Given the description of an element on the screen output the (x, y) to click on. 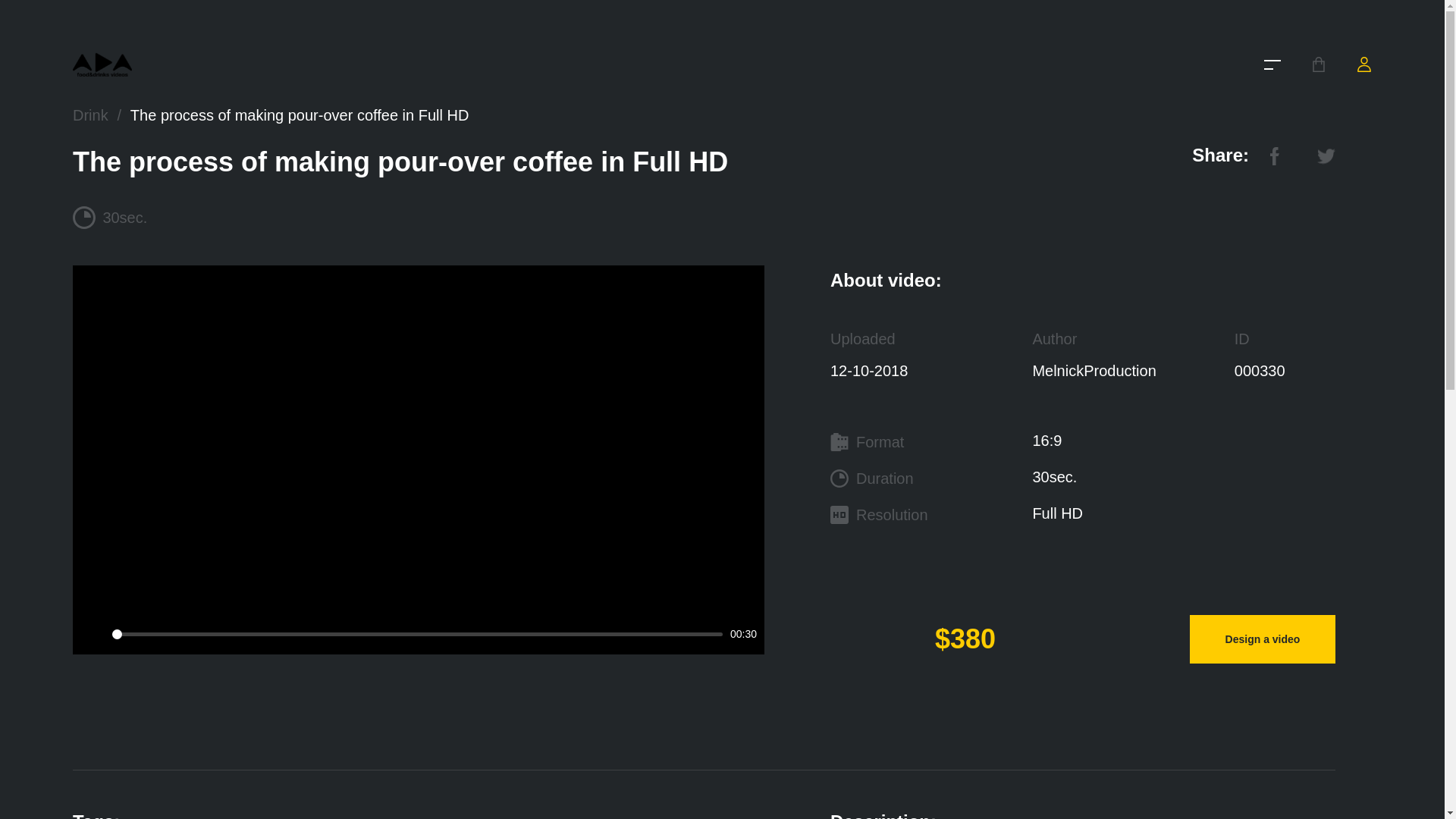
The process of making pour-over coffee in Full HD (299, 115)
Play (92, 633)
Drink (89, 115)
0 (417, 634)
Design a video (1262, 639)
